Given the description of an element on the screen output the (x, y) to click on. 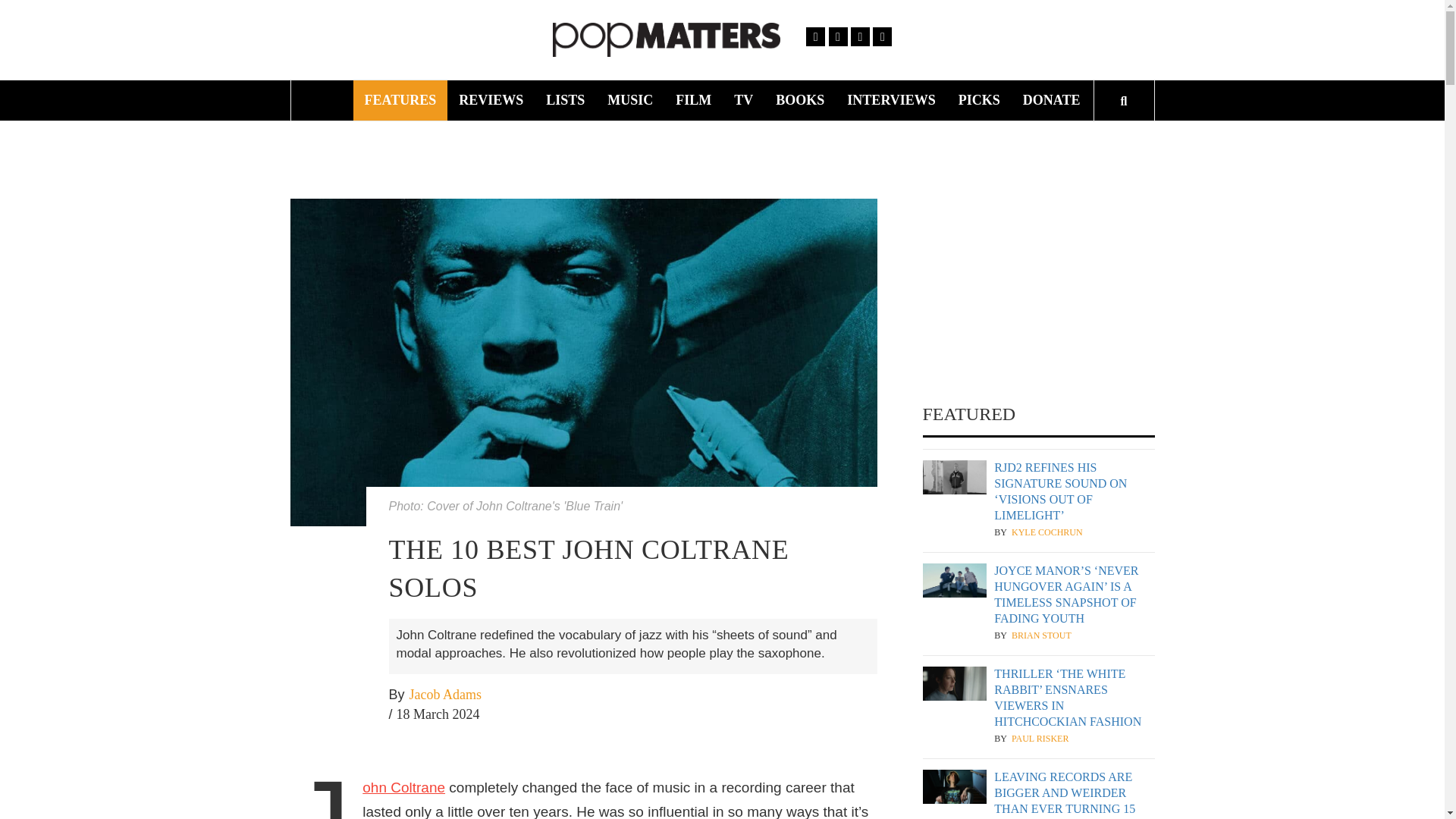
Facebook (815, 36)
Kyle Cochrun (1047, 532)
REVIEWS (490, 100)
INTERVIEWS (890, 100)
FEATURES (400, 100)
Brian Stout (1041, 635)
Spotify (881, 36)
Jacob Adams (445, 695)
TV (743, 100)
Twitter (837, 36)
POPMATTERS (903, 45)
ohn Coltrane (403, 787)
Instagram (859, 36)
FILM (692, 100)
BOOKS (799, 100)
